Given the description of an element on the screen output the (x, y) to click on. 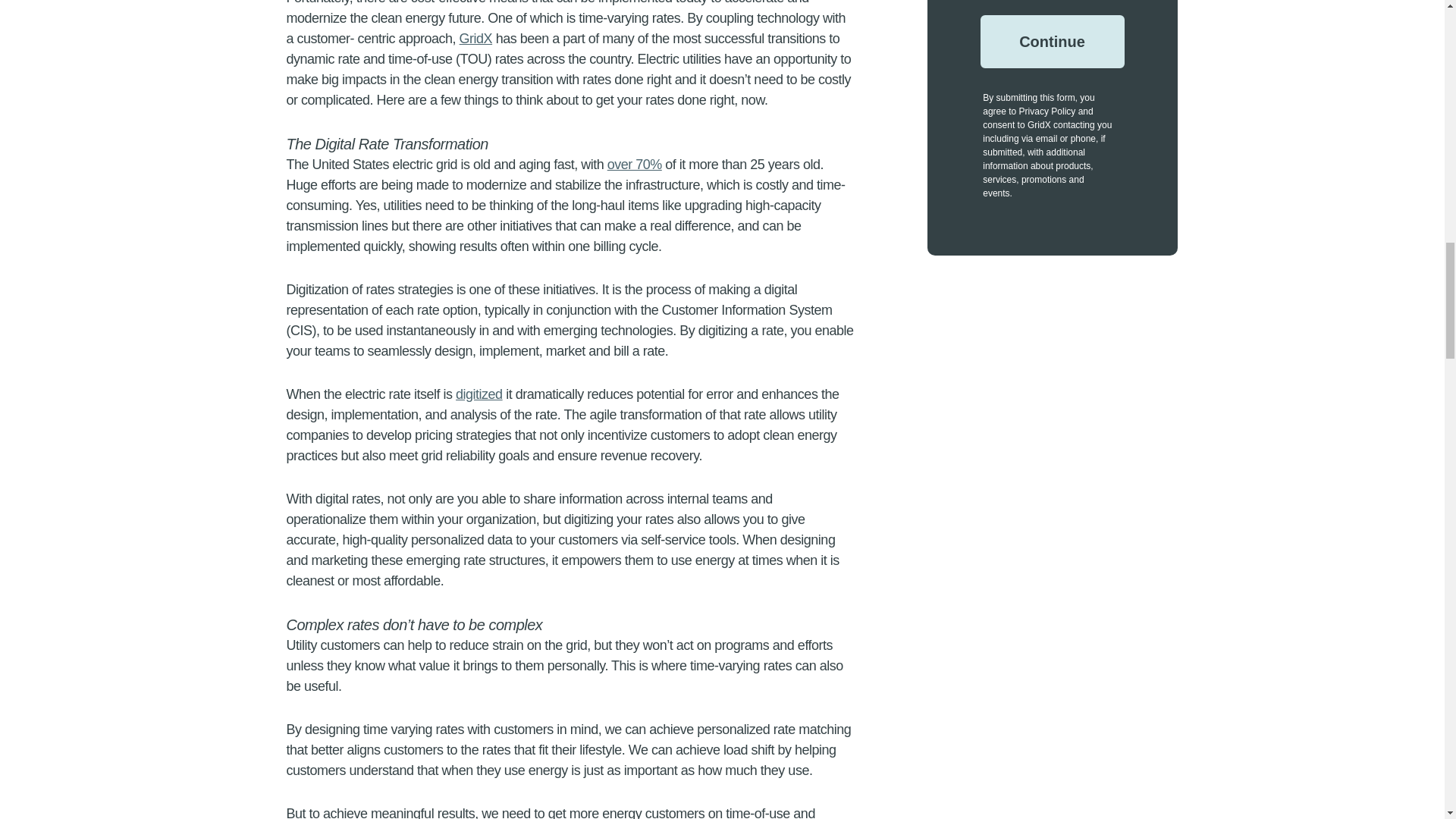
Continue (1051, 41)
